Given the description of an element on the screen output the (x, y) to click on. 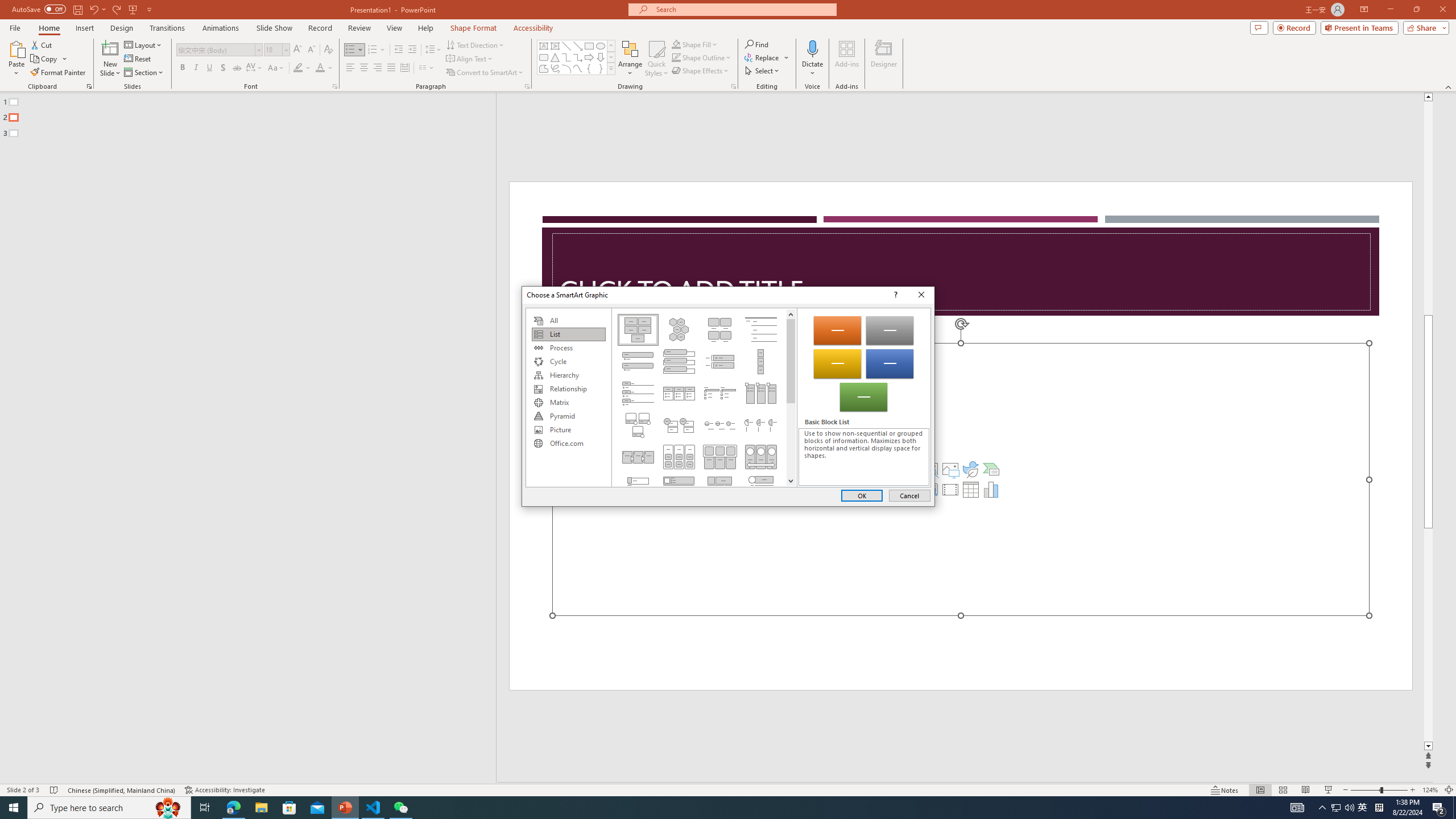
Stacked List (678, 425)
Cancel (909, 495)
Increasing Circle Process (719, 425)
Strikethrough (237, 67)
Horizontal Picture List (719, 457)
From Beginning (133, 9)
Oval (600, 45)
Detailed Process (637, 457)
Vertical Box List (678, 361)
Reset (138, 58)
Picture (568, 429)
Review (359, 28)
Decrease Font Size (310, 49)
